Given the description of an element on the screen output the (x, y) to click on. 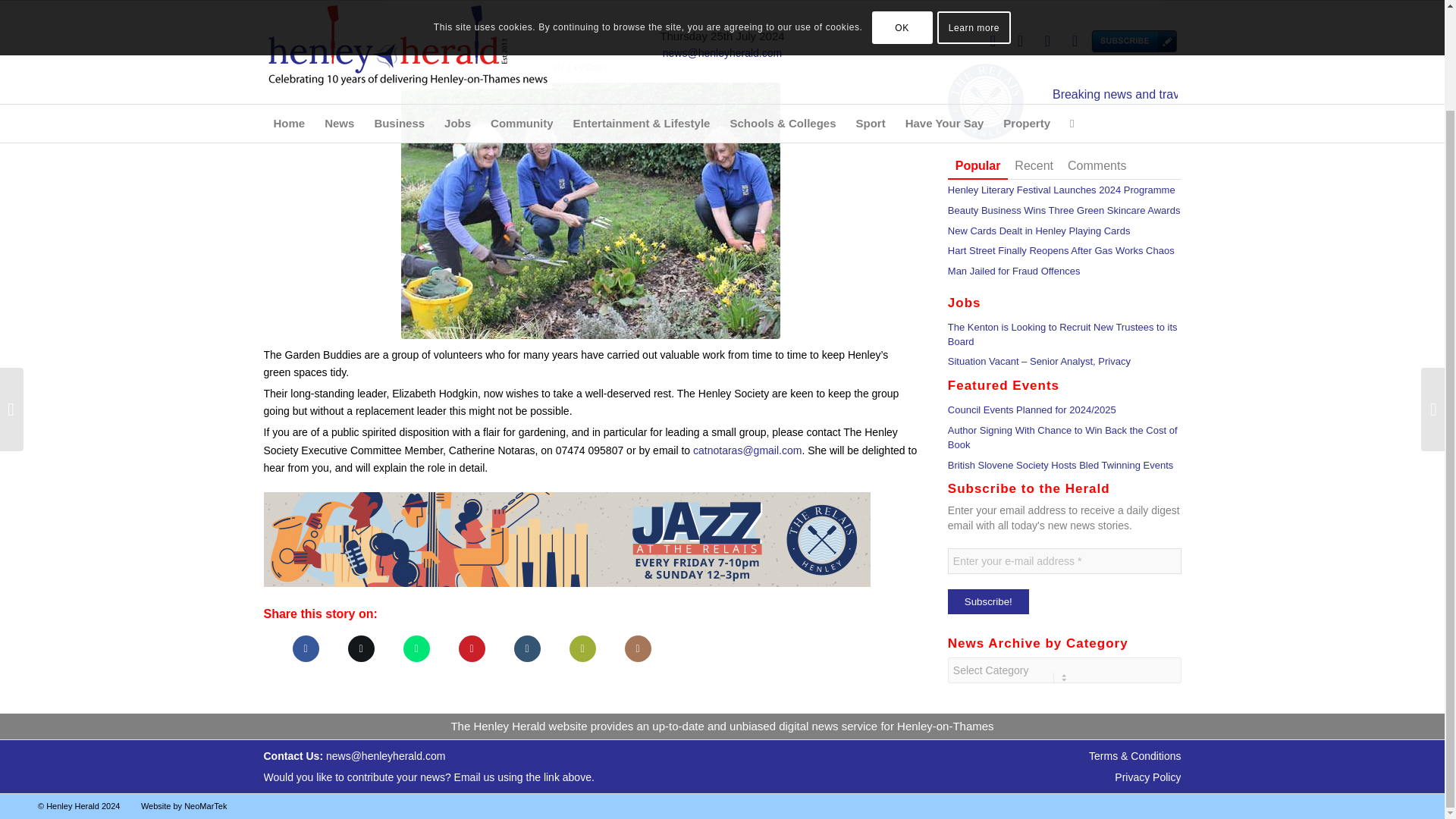
Business (398, 12)
Subscribe! (988, 601)
Posts by Editor (597, 67)
Jobs (456, 12)
News (339, 12)
Home (289, 12)
Community (521, 12)
